Given the description of an element on the screen output the (x, y) to click on. 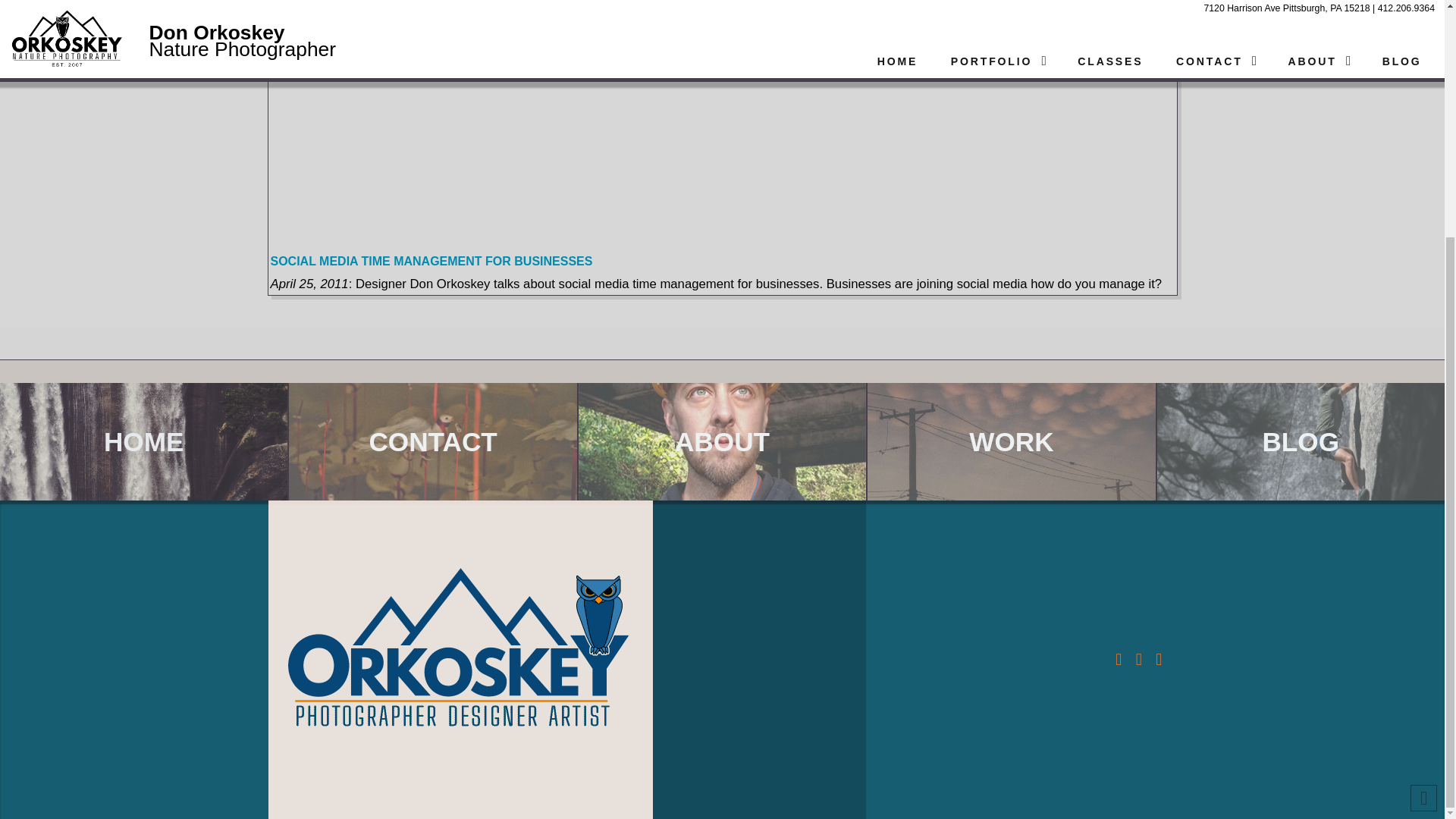
ABOUT (722, 441)
HOME (143, 441)
WORK (1010, 441)
CONTACT (432, 441)
BLOG (1300, 441)
Back to Top (1423, 473)
